Given the description of an element on the screen output the (x, y) to click on. 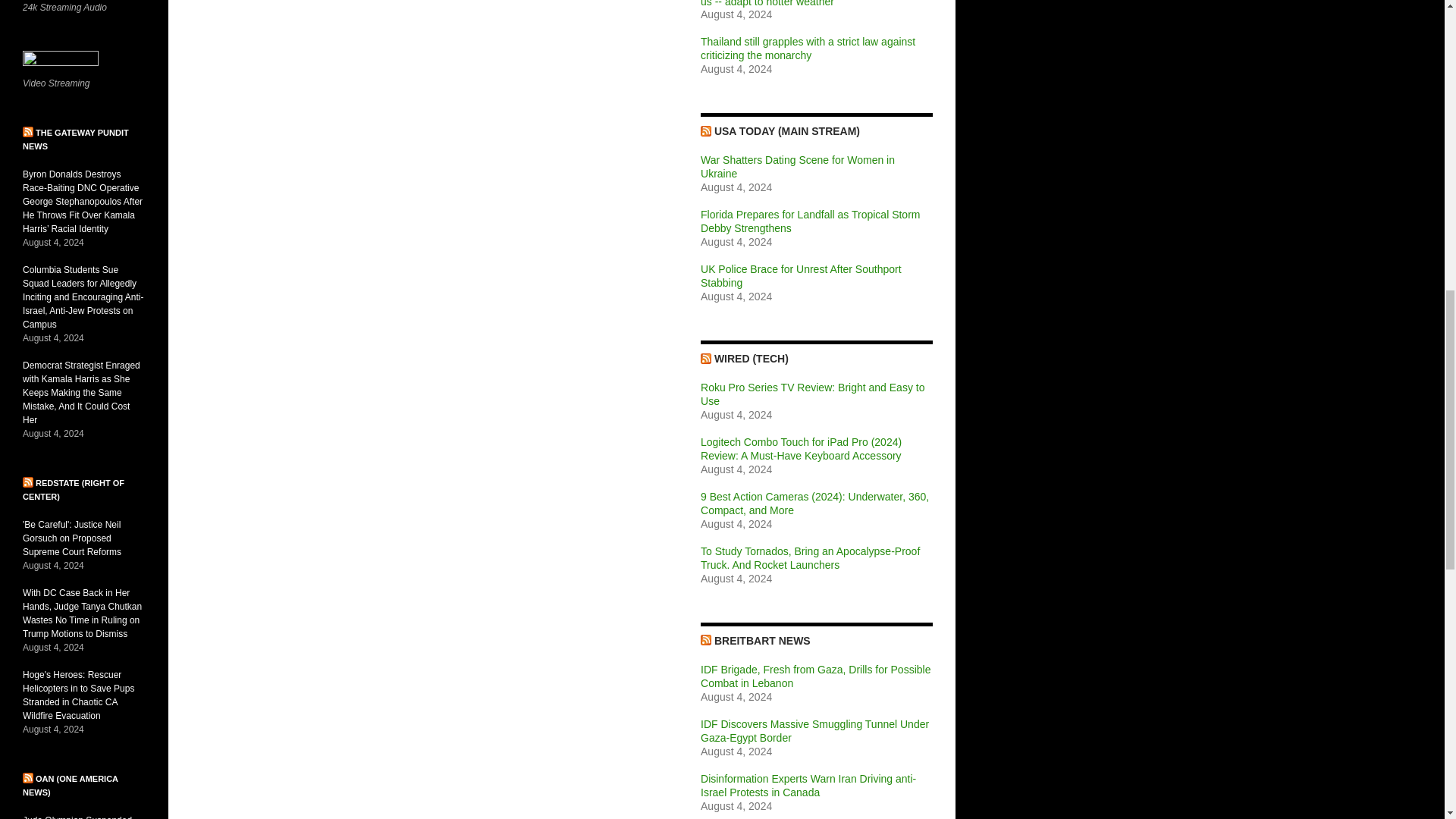
Roku Pro Series TV Review: Bright and Easy to Use (812, 394)
War Shatters Dating Scene for Women in Ukraine (797, 166)
BREITBART NEWS (762, 640)
UK Police Brace for Unrest After Southport Stabbing (800, 275)
